Given the description of an element on the screen output the (x, y) to click on. 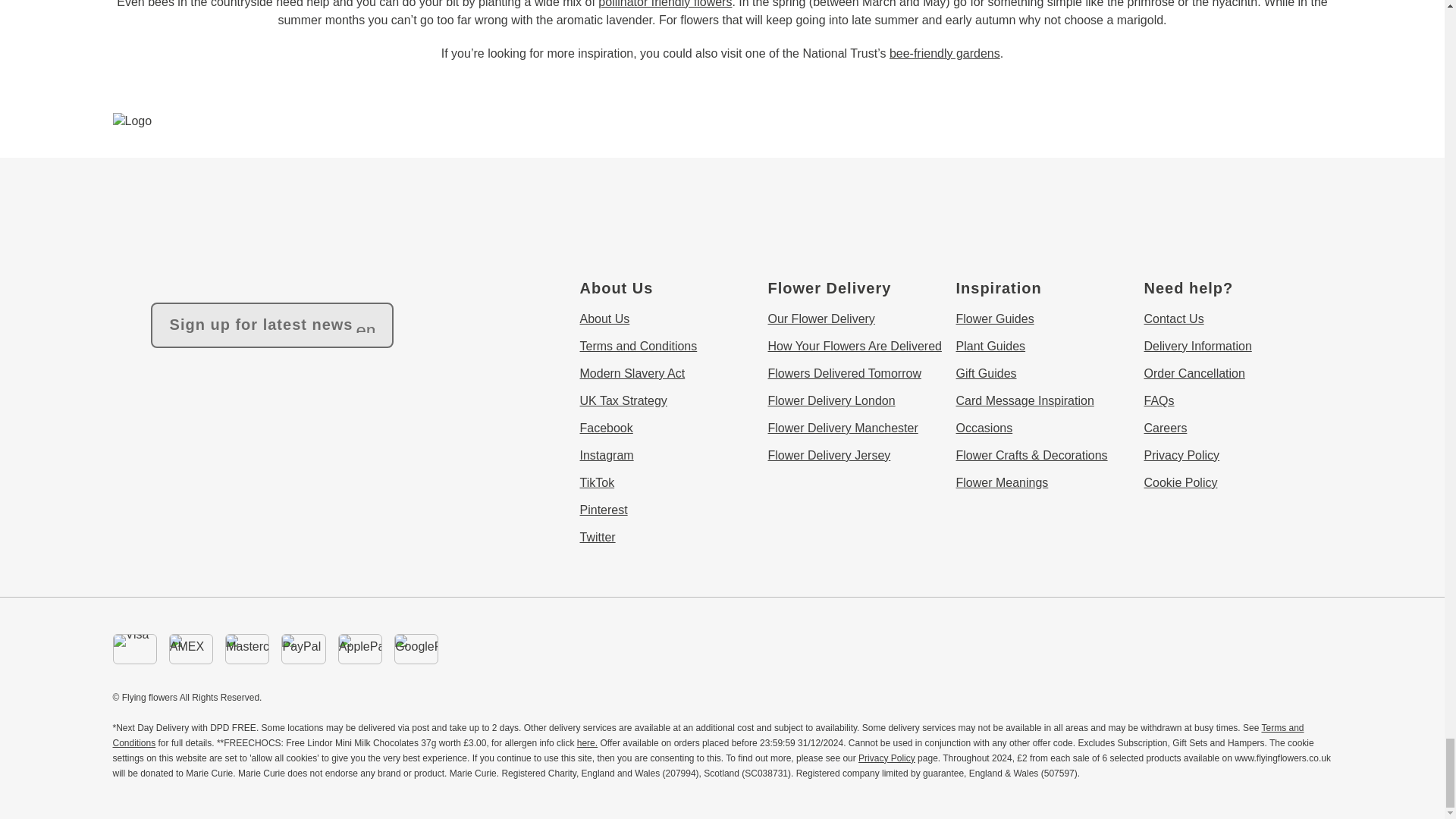
Privacy (887, 757)
Terms and Conditions (707, 735)
